Given the description of an element on the screen output the (x, y) to click on. 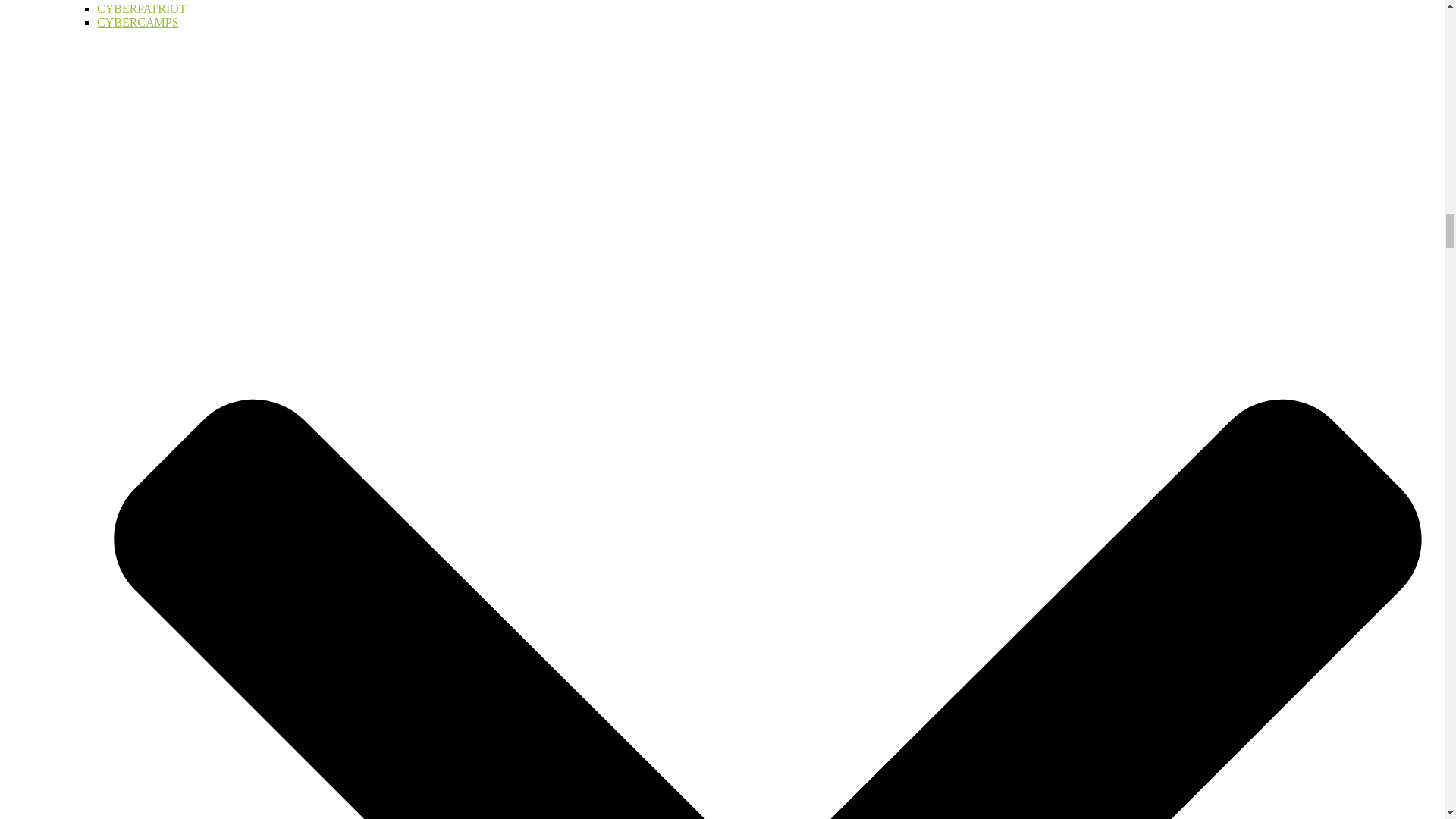
CYBERPATRIOT (141, 8)
CYBERPATRIOT (141, 8)
